Given the description of an element on the screen output the (x, y) to click on. 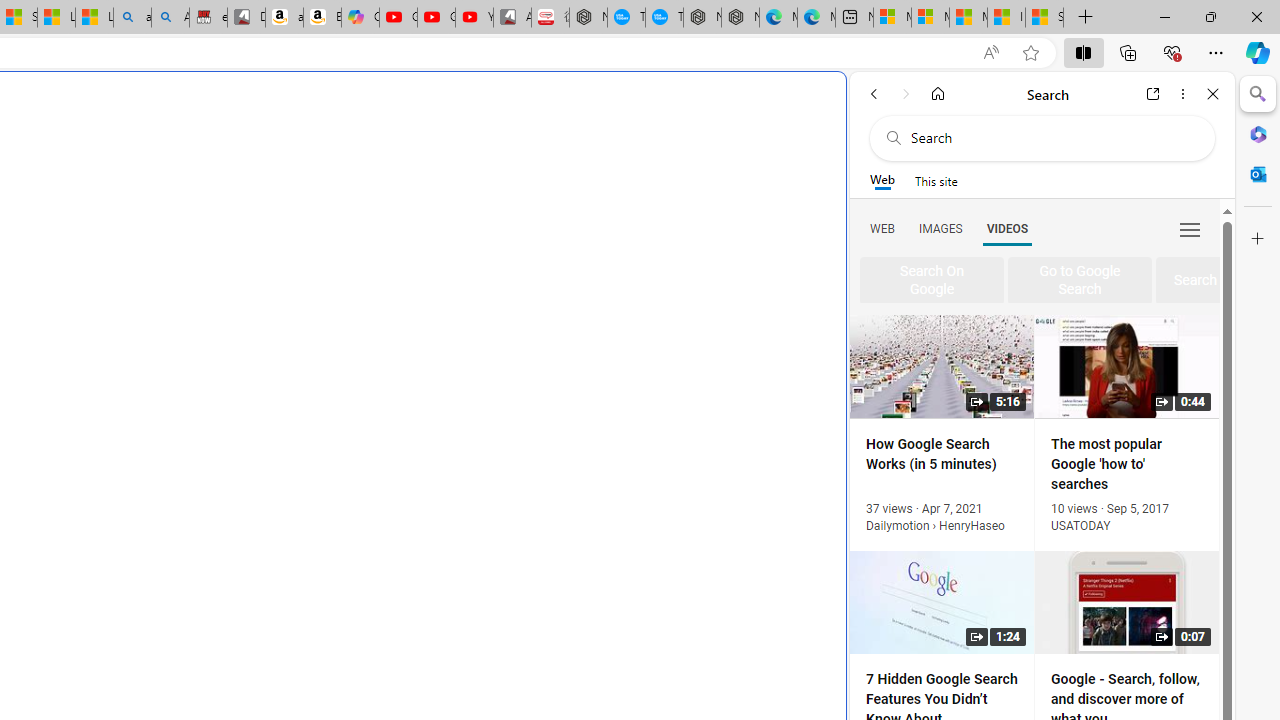
Search the web (1051, 137)
Search Filter, WEB (882, 228)
The most popular Google 'how to' searches (664, 17)
Microsoft account | Privacy (929, 17)
WEB (882, 228)
Class: suggestion-item  (1080, 281)
IMAGES (939, 228)
Outlook (1258, 174)
Preferences (1189, 228)
